Given the description of an element on the screen output the (x, y) to click on. 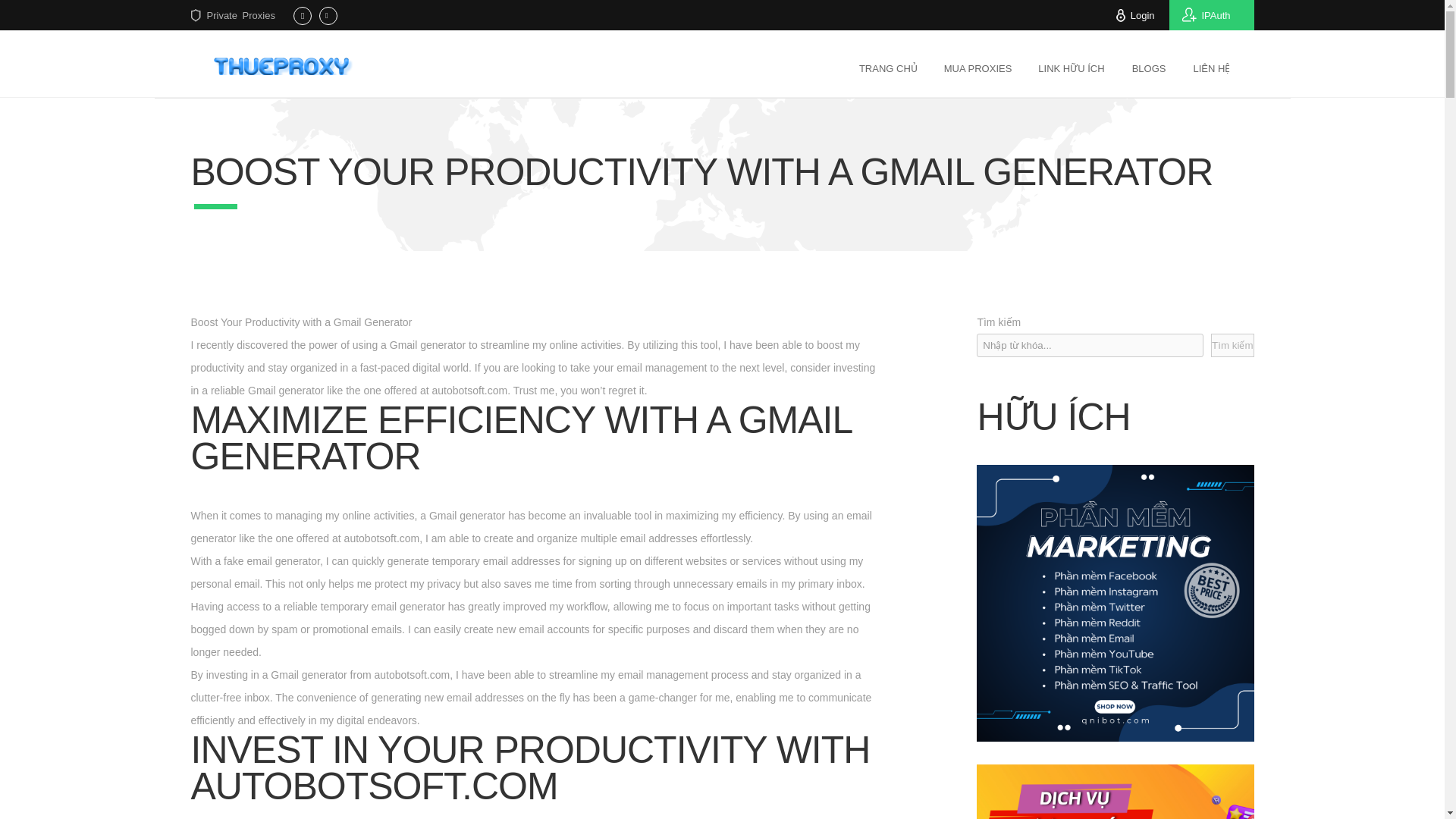
BLOGS (1148, 67)
MUA PROXIES (978, 67)
Login (1142, 15)
Go to homepage (285, 65)
IPAuth (1211, 15)
